Given the description of an element on the screen output the (x, y) to click on. 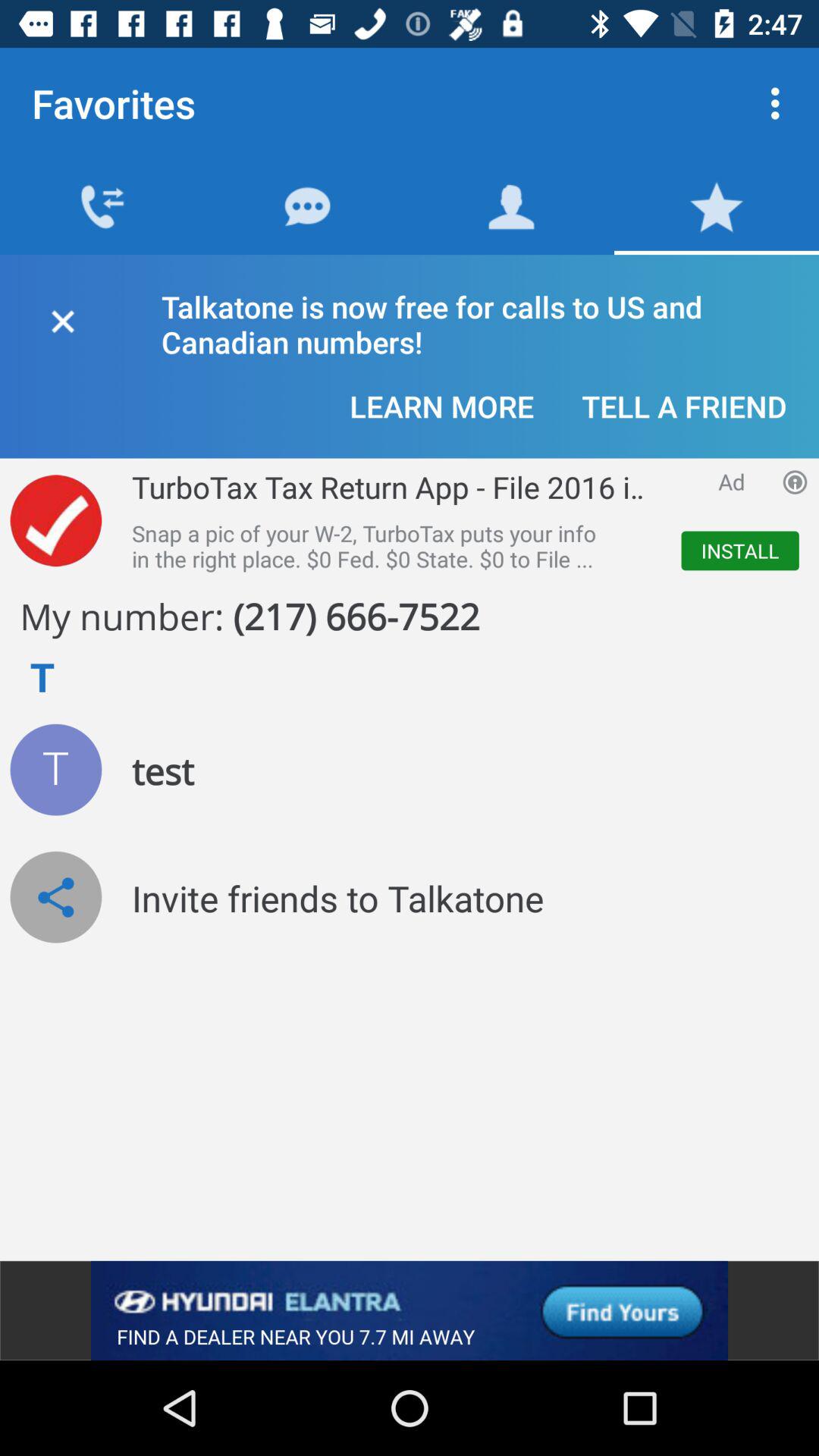
click on advertising banner (409, 1310)
